Given the description of an element on the screen output the (x, y) to click on. 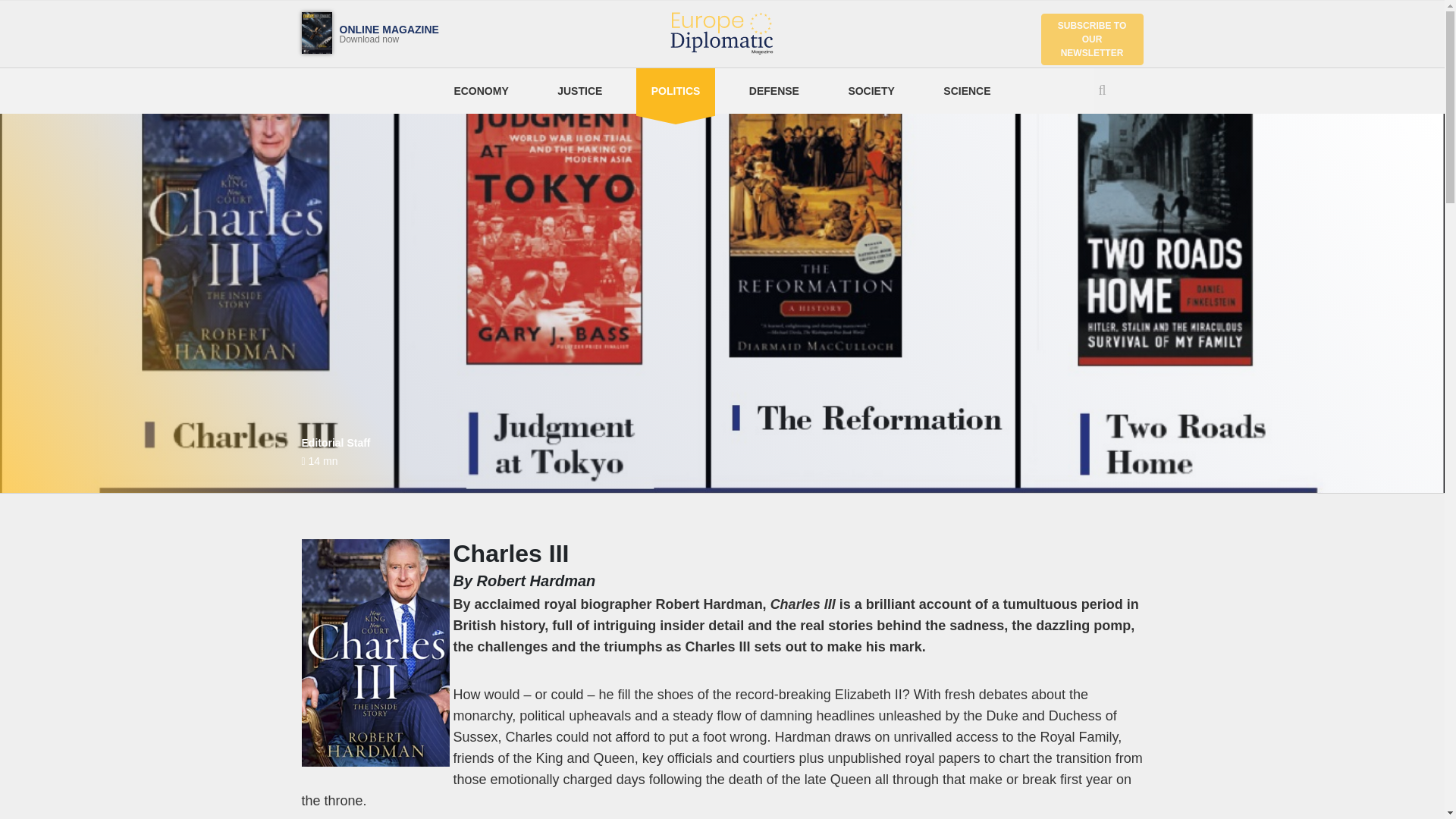
SOCIETY (870, 90)
SUBSCRIBE TO OUR NEWSLETTER (1091, 39)
DEFENSE (773, 90)
SCIENCE (351, 33)
Europe Diplomatic Magazine (967, 90)
POLITICS (722, 34)
JUSTICE (676, 90)
ECONOMY (579, 90)
